Given the description of an element on the screen output the (x, y) to click on. 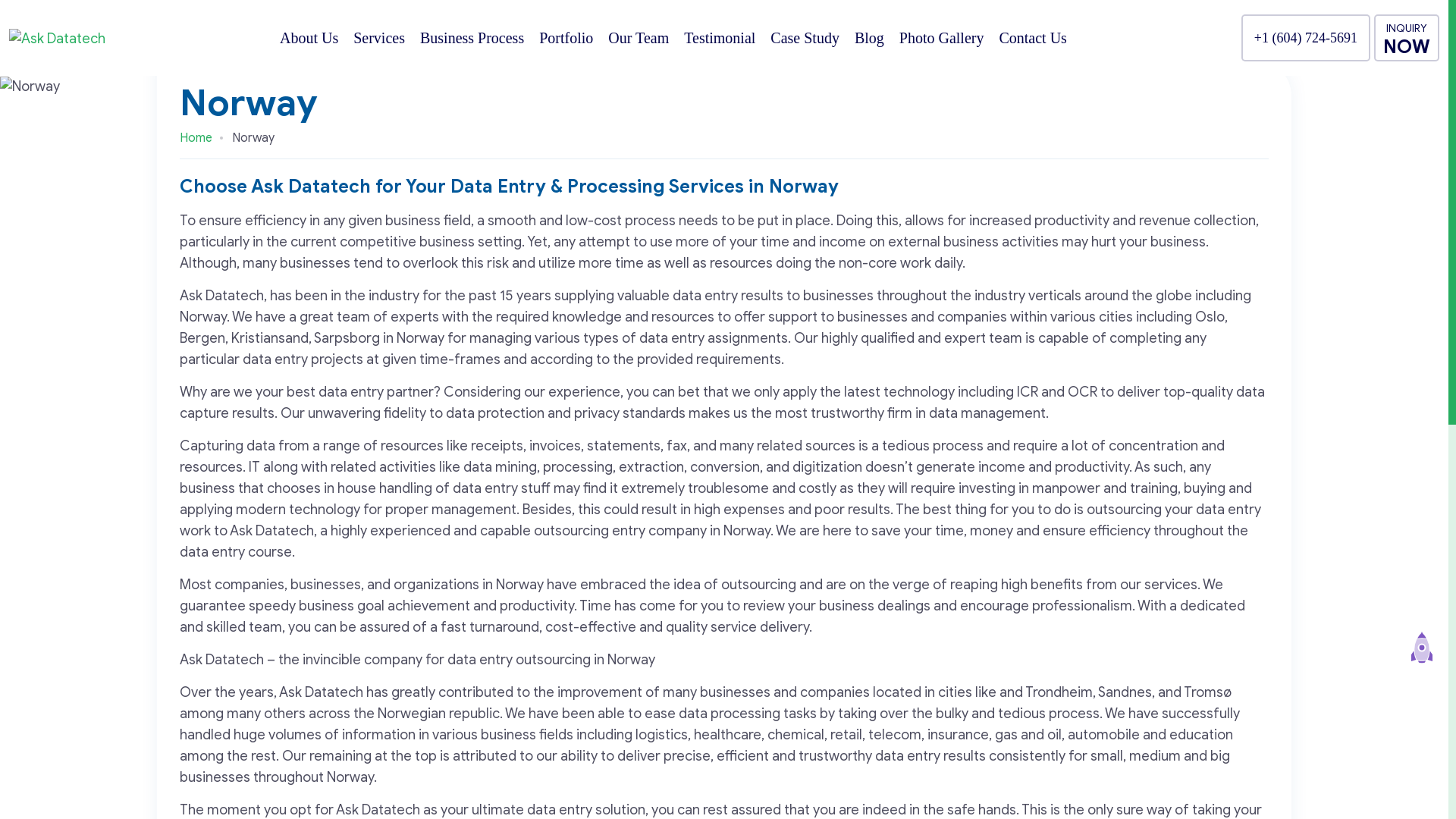
Top Element type: hover (1421, 651)
Home Element type: text (195, 137)
Our Team Element type: text (638, 37)
+1 (604) 724-5691 Element type: text (1305, 37)
Business Process Element type: text (472, 37)
Ask Datatech Element type: hover (57, 37)
Contact Us Element type: text (1032, 37)
Case Study Element type: text (804, 37)
Testimonial Element type: text (719, 37)
INQUIRY
NOW Element type: text (1406, 37)
Services Element type: text (378, 37)
About Us Element type: text (308, 37)
Blog Element type: text (869, 37)
Portfolio Element type: text (566, 37)
Photo Gallery Element type: text (941, 37)
